Given the description of an element on the screen output the (x, y) to click on. 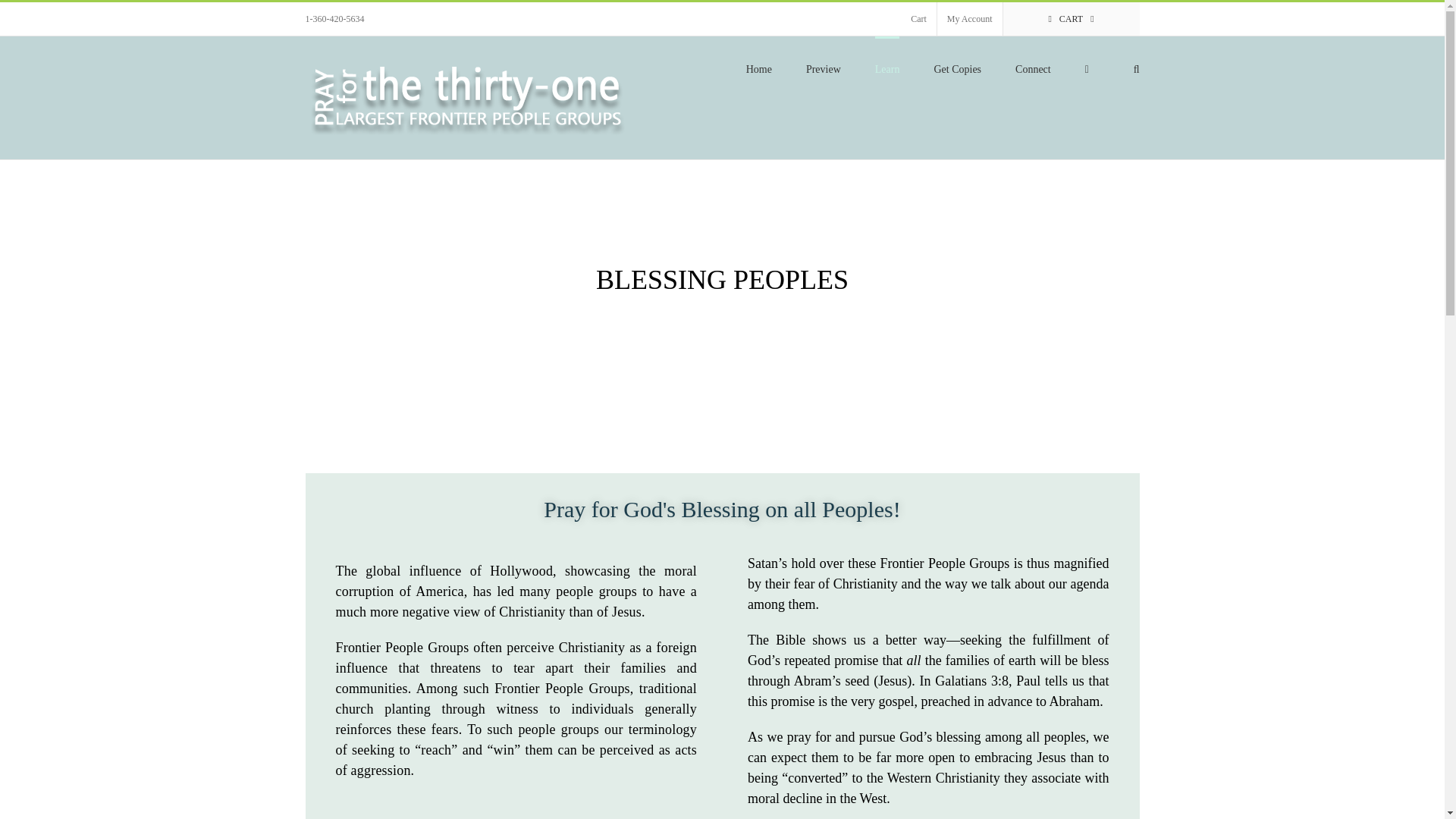
Log In (1024, 149)
Cart (918, 19)
CART (1070, 19)
My Account (970, 19)
